Given the description of an element on the screen output the (x, y) to click on. 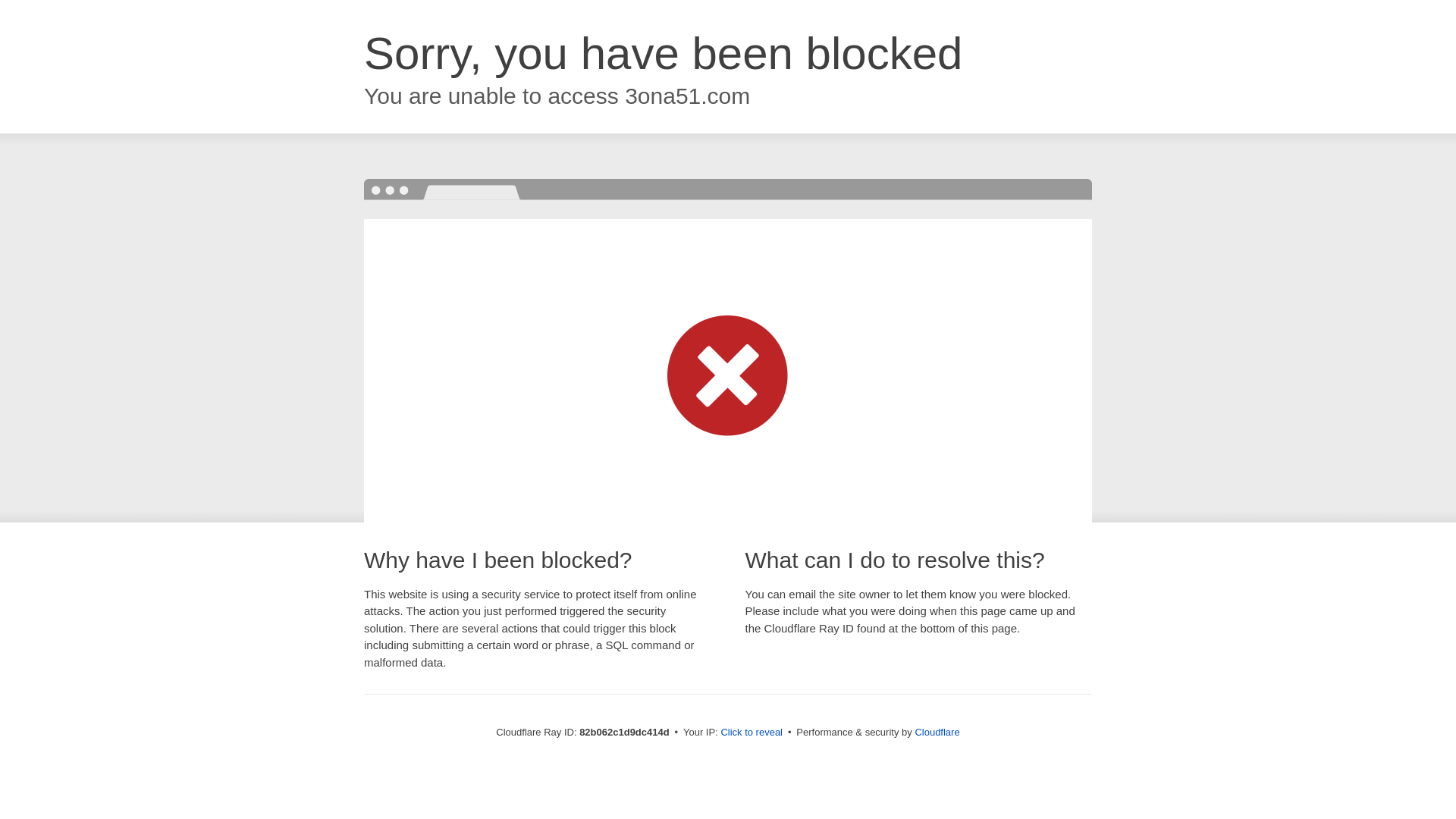
Cloudflare Element type: text (936, 731)
Click to reveal Element type: text (751, 732)
